Given the description of an element on the screen output the (x, y) to click on. 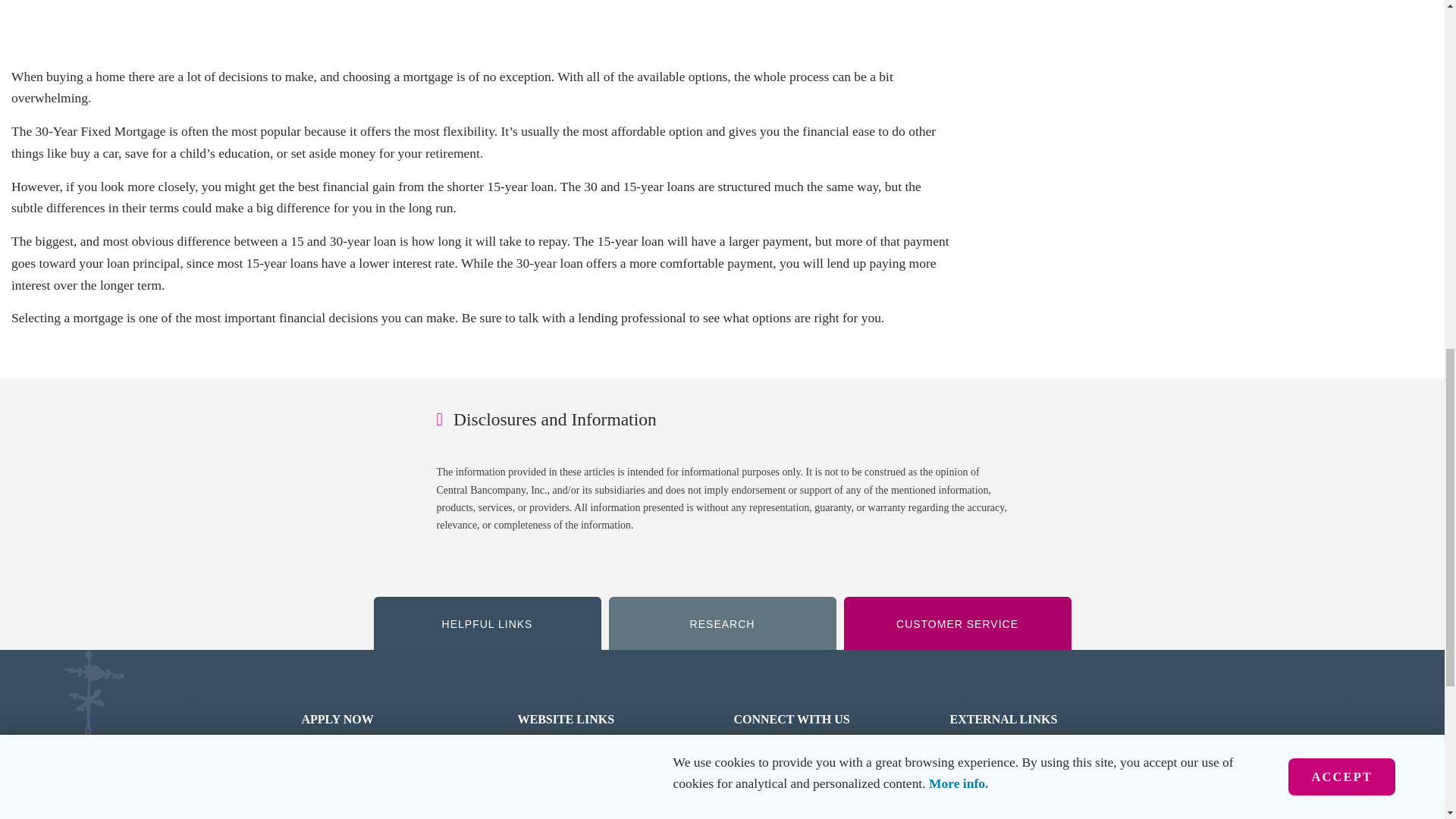
Media Center (556, 752)
Mobile App for Apple (1017, 752)
Careers (540, 789)
Mobile App for Android (1023, 789)
Apply for a Loan (349, 789)
Open an Account (352, 752)
YouTube (771, 789)
Facebook  (774, 752)
